Given the description of an element on the screen output the (x, y) to click on. 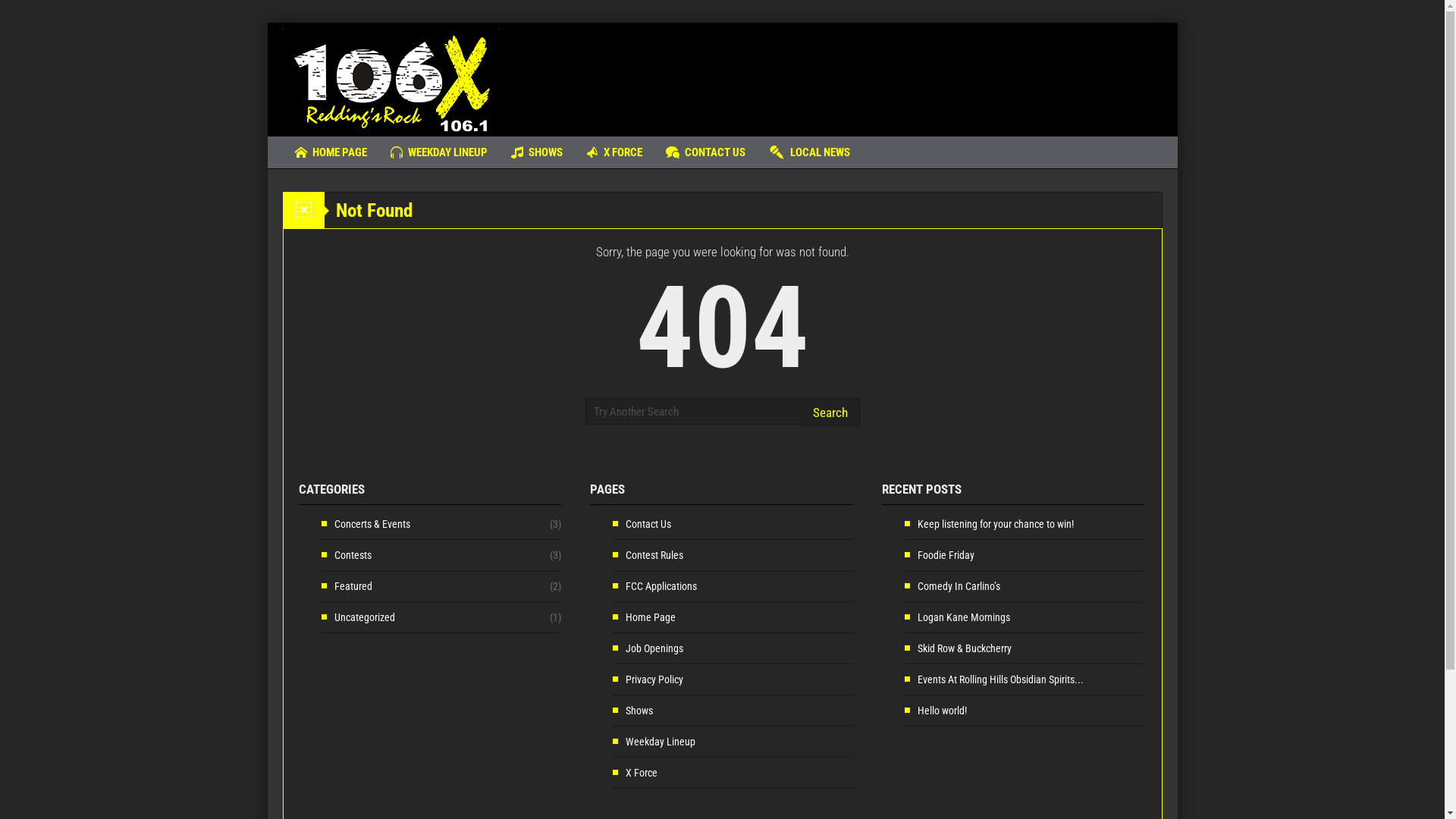
Uncategorized Element type: text (358, 616)
Keep listening for your chance to win! Element type: text (988, 523)
Weekday Lineup Element type: text (653, 741)
Foodie Friday Element type: text (939, 554)
Contest Rules Element type: text (647, 554)
LOCAL NEWS Element type: text (808, 152)
Home Page Element type: text (643, 616)
HOME PAGE Element type: text (330, 152)
Search for: Element type: hover (693, 411)
Featured Element type: text (346, 585)
WEEKDAY LINEUP Element type: text (438, 152)
Shows Element type: text (632, 710)
Search Element type: text (829, 412)
Logan Kane Mornings Element type: text (957, 616)
Concerts & Events Element type: text (365, 523)
Contact Us Element type: text (641, 523)
SHOWS Element type: text (535, 152)
Privacy Policy Element type: text (647, 679)
Hello world! Element type: text (935, 710)
Job Openings Element type: text (647, 647)
X Force Element type: text (634, 772)
Events At Rolling Hills Obsidian Spirits... Element type: text (993, 679)
X FORCE Element type: text (613, 152)
Redding's Rock 106X Element type: hover (390, 79)
CONTACT US Element type: text (704, 152)
Advertisement Element type: hover (885, 71)
Contests Element type: text (346, 554)
Skid Row & Buckcherry Element type: text (957, 647)
FCC Applications Element type: text (654, 585)
